Given the description of an element on the screen output the (x, y) to click on. 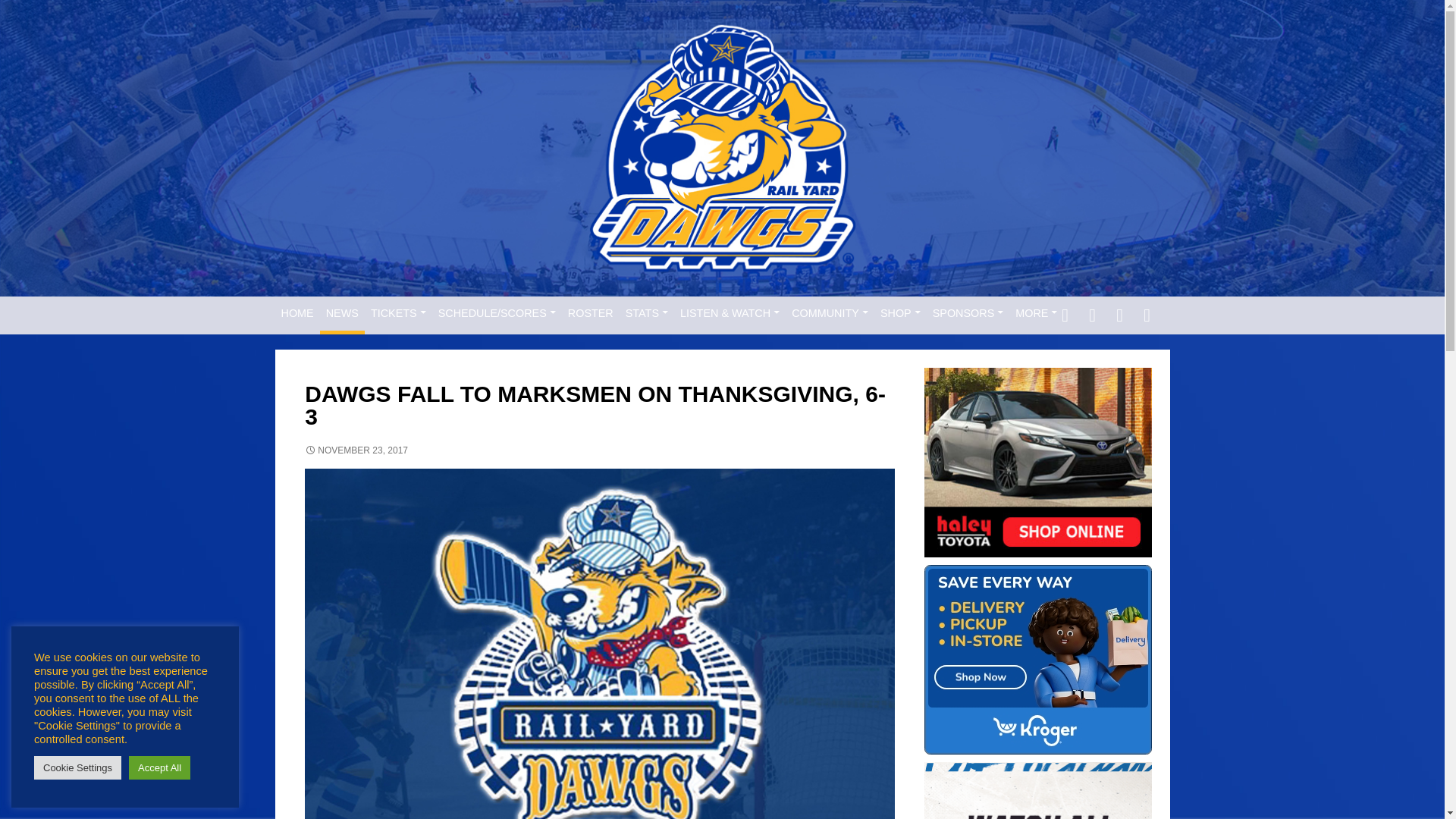
COMMUNITY (830, 313)
TICKETS (398, 313)
HOME (296, 313)
ROSTER (591, 313)
DAWGS FALL TO MARKSMEN ON THANKSGIVING, 6-3 (1037, 790)
STATS (647, 313)
SPONSORS (968, 313)
NEWS (342, 313)
SHOP (900, 313)
Haley Home Page Ad Updated 091123 copy (1037, 462)
